Given the description of an element on the screen output the (x, y) to click on. 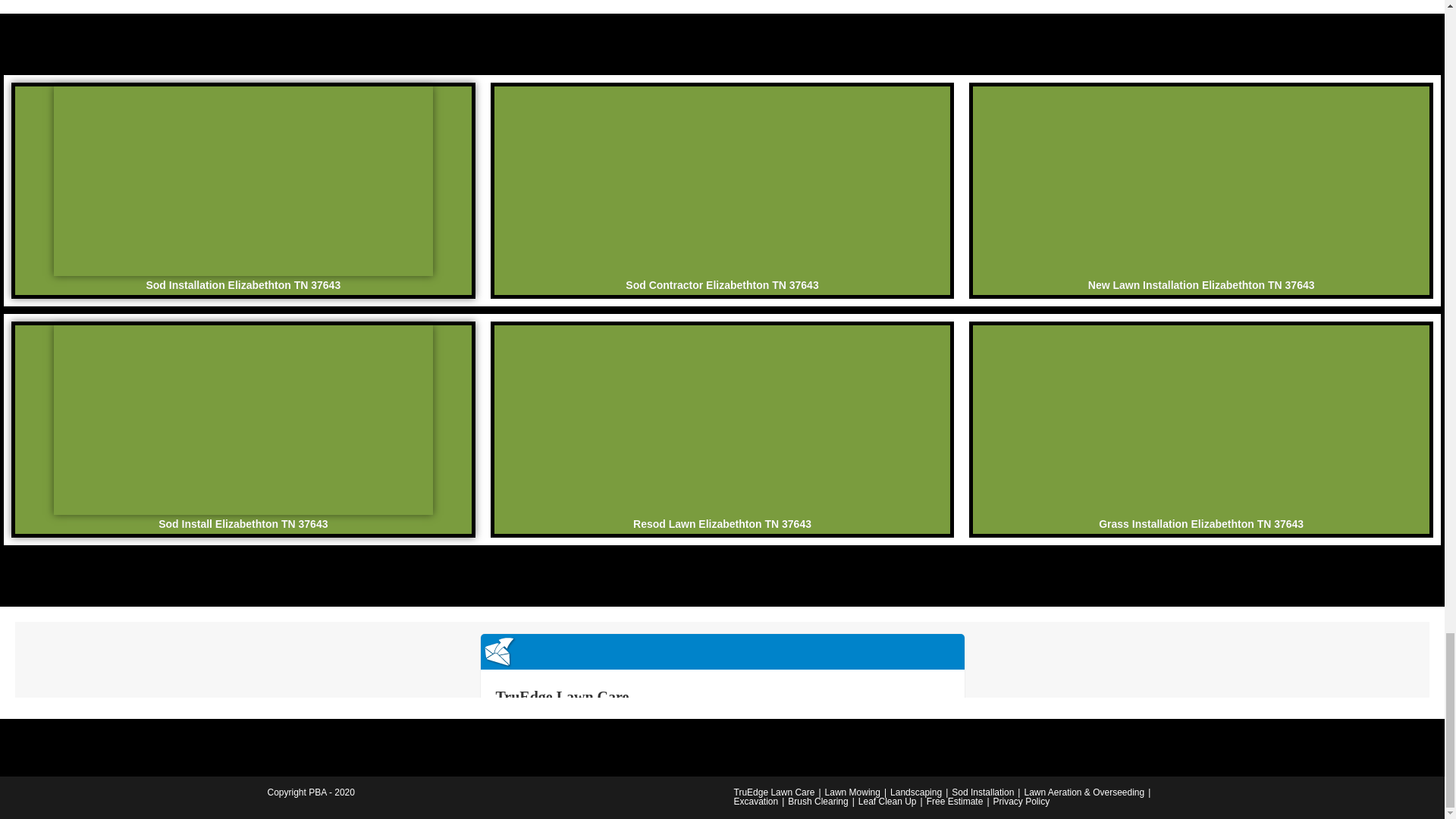
Sod Installation, Sod Installer, Sod Company, Sod Contractor (721, 181)
Sod Installation (1200, 181)
Sod Installation, Sod Contractor, New Lawn Installation (242, 420)
Brush Clearing (817, 801)
Privacy Policy (1020, 801)
Sod Installation (982, 792)
Leaf Clean Up (888, 801)
Free Estimate (955, 801)
Excavation (755, 801)
Landscaping (915, 792)
Lawn Mowing (852, 792)
Sod Installation, Sod Contractor, New Lawn Installation (1200, 420)
TruEdge Lawn Care (774, 792)
Sod Installation, Sod Contractor, New Lawn Installation (242, 181)
Sod Installation, Sod Contractor, New Lawn Installation (721, 420)
